Given the description of an element on the screen output the (x, y) to click on. 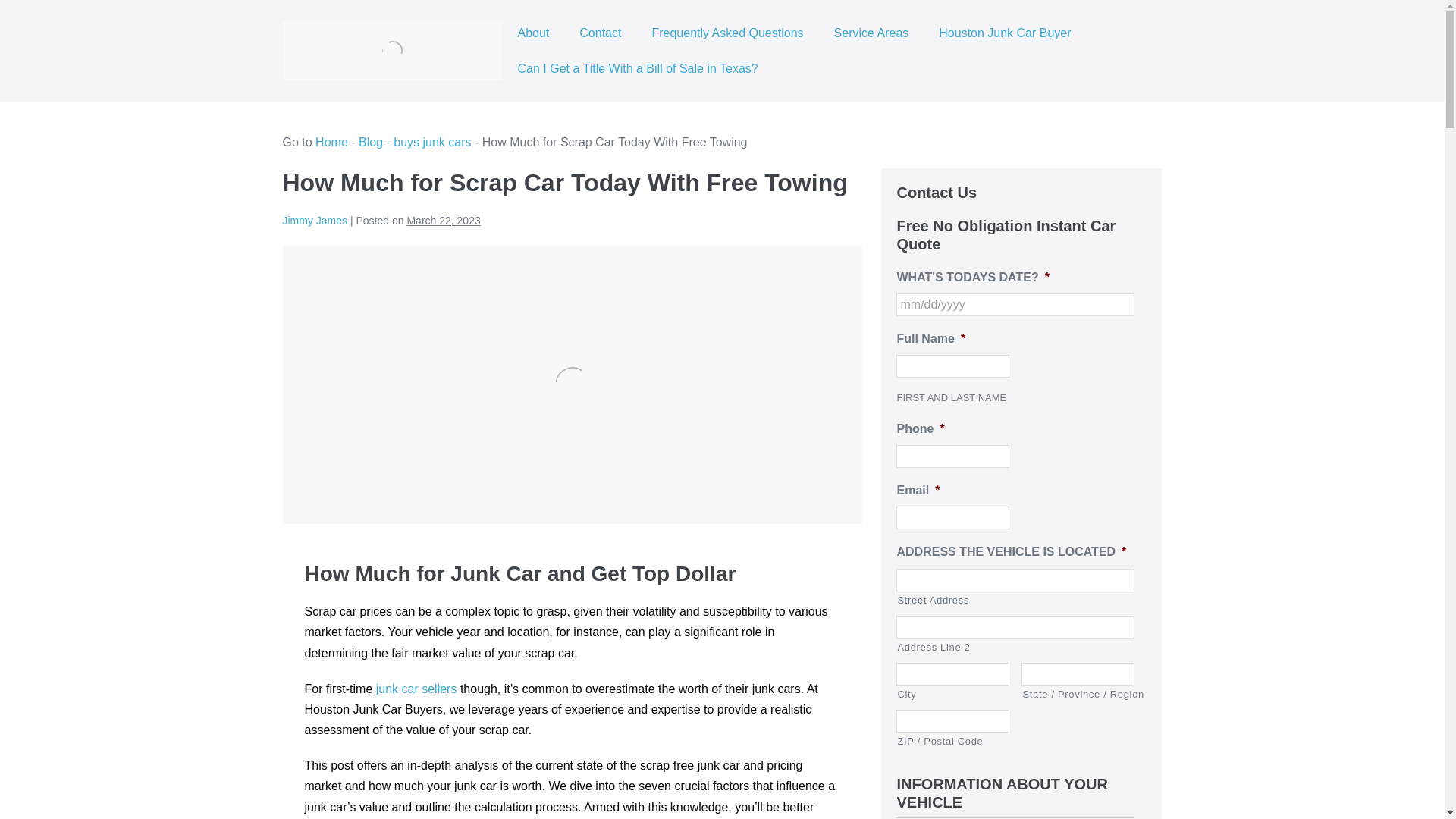
Service Areas (871, 32)
Jimmy James (314, 220)
Home (331, 141)
Houston Junk Car Buyer (392, 50)
Blog (370, 141)
About (533, 32)
buys junk cars (431, 141)
Can I Get a Title With a Bill of Sale in Texas? (637, 68)
Contact (600, 32)
junk car sellers (414, 688)
View all posts by Jimmy James (314, 220)
Houston Junk Car Buyer (1004, 32)
Frequently Asked Questions (727, 32)
